Given the description of an element on the screen output the (x, y) to click on. 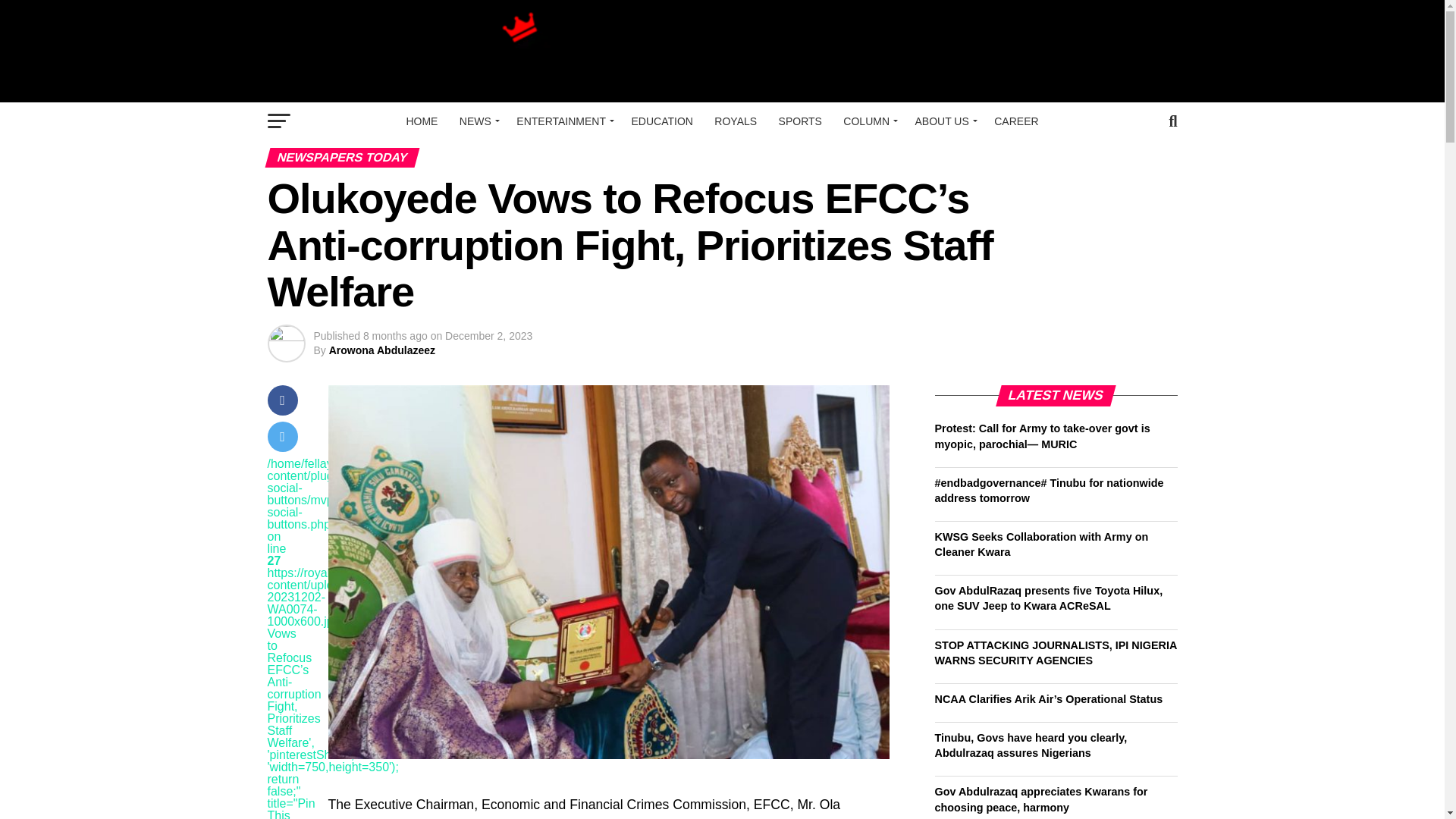
NEWS (476, 121)
HOME (421, 121)
Posts by Arowona Abdulazeez (382, 349)
